Given the description of an element on the screen output the (x, y) to click on. 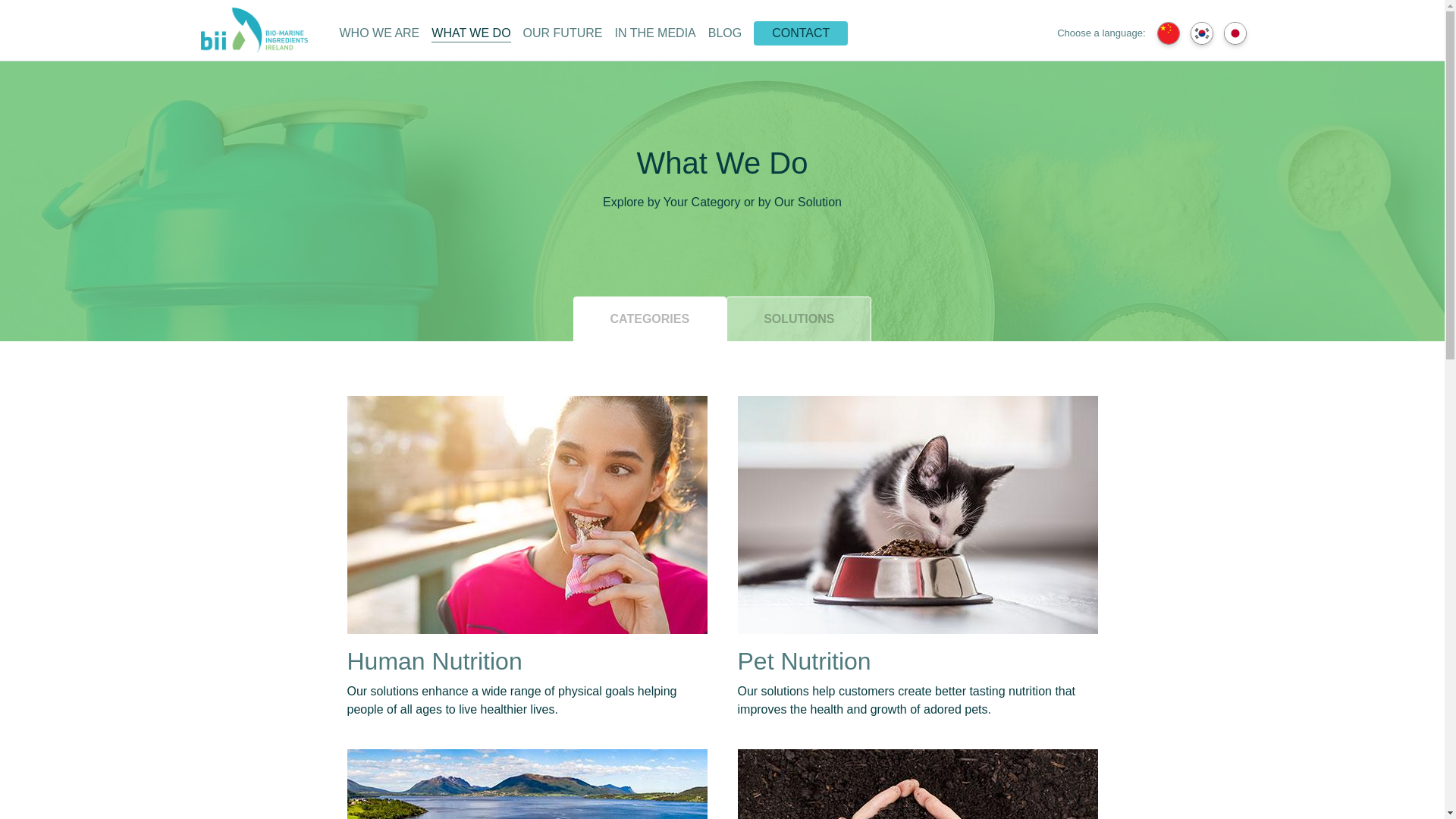
Go to Korean language content page (1201, 33)
Go to Japanese language content page (1230, 33)
CONTACT (800, 33)
WHO WE ARE (379, 33)
BLOG (724, 33)
OUR FUTURE (562, 33)
WHAT WE DO (470, 33)
SOLUTIONS (798, 319)
CATEGORIES (649, 319)
IN THE MEDIA (654, 33)
